Given the description of an element on the screen output the (x, y) to click on. 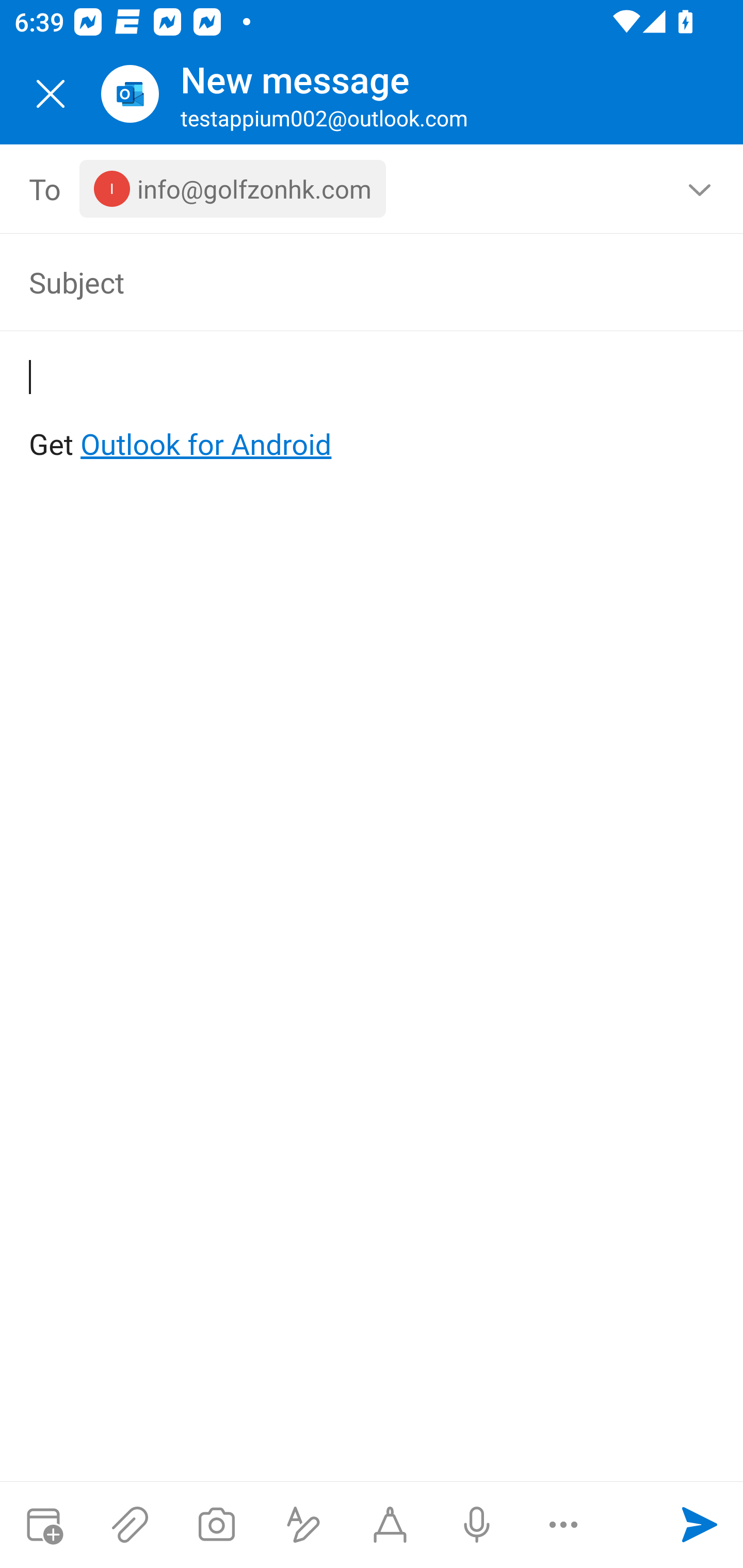
Close (50, 93)
Subject (342, 281)


Get Outlook for Android (372, 411)
Attach meeting (43, 1524)
Attach files (129, 1524)
Take a photo (216, 1524)
Show formatting options (303, 1524)
Start Ink compose (389, 1524)
Dictation (476, 1524)
More options (563, 1524)
Send (699, 1524)
